Given the description of an element on the screen output the (x, y) to click on. 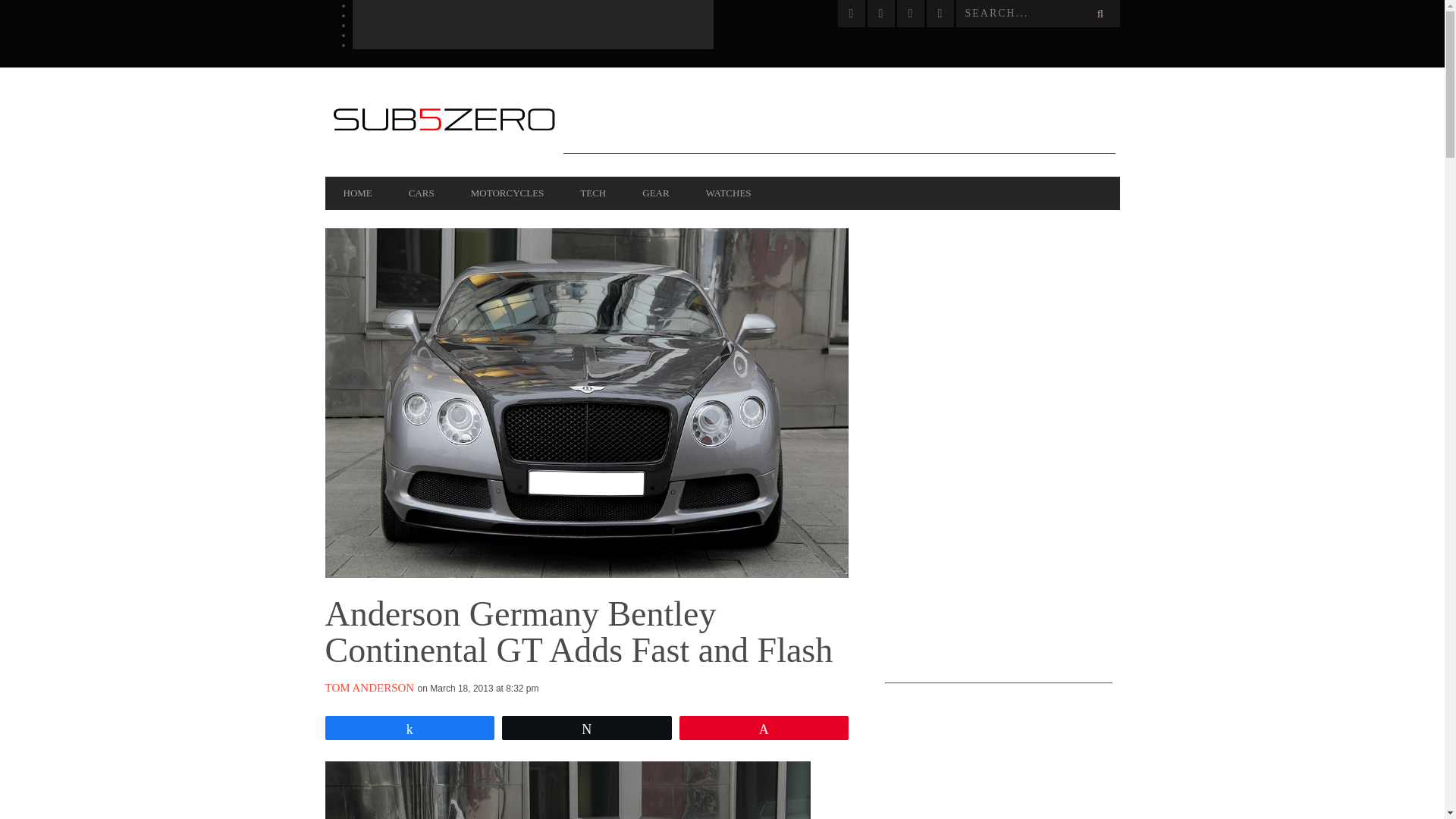
Sub5zero (443, 121)
Advertisement (998, 455)
TOM ANDERSON (368, 687)
HOME (357, 193)
GEAR (655, 193)
CARS (421, 193)
MOTORCYCLES (507, 193)
Posts by Tom Anderson (368, 687)
WATCHES (728, 193)
TECH (593, 193)
Advertisement (839, 119)
